Given the description of an element on the screen output the (x, y) to click on. 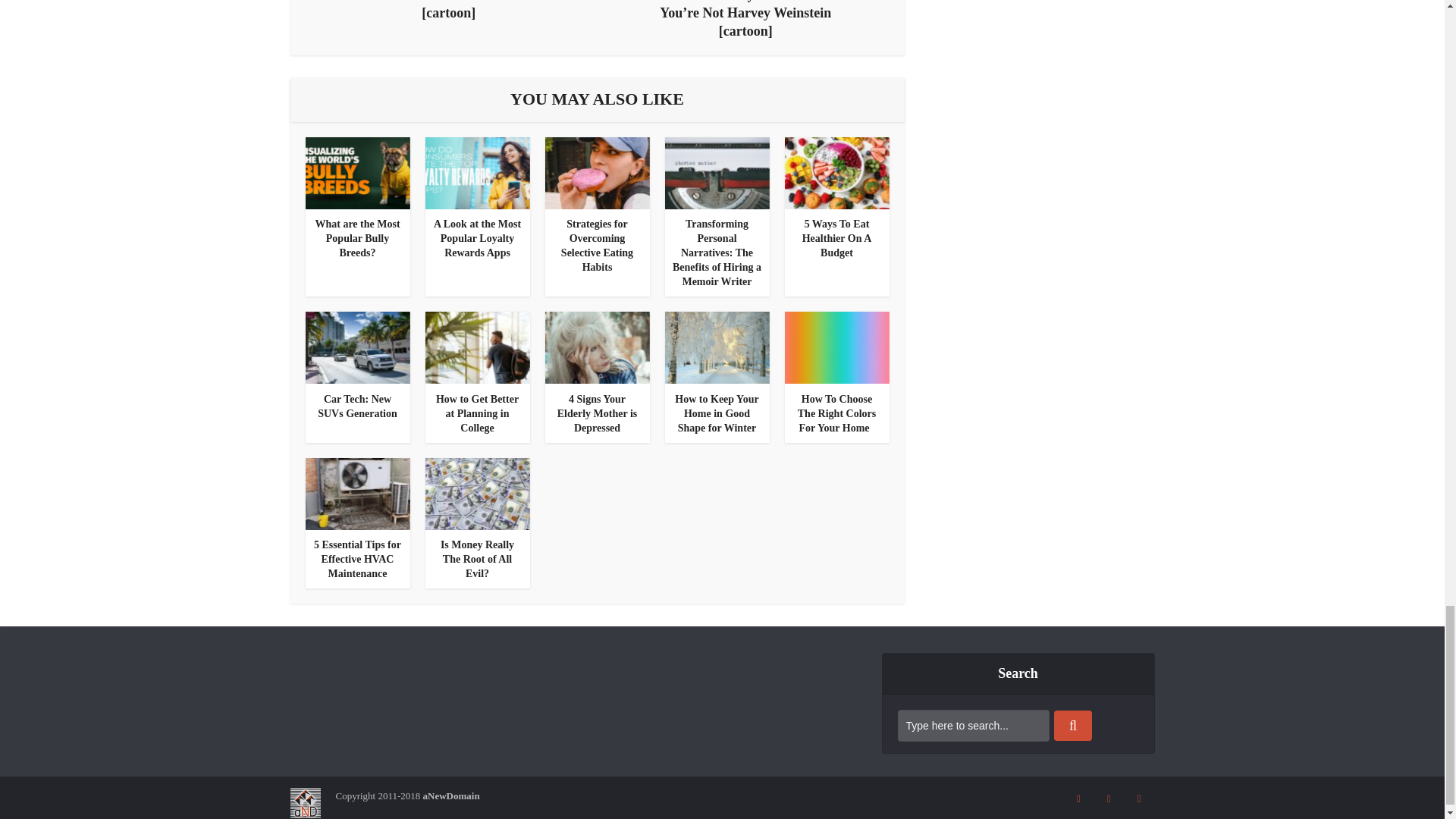
Car Tech: New SUVs Generation (357, 406)
What are the Most Popular Bully Breeds? (356, 238)
What are the Most Popular Bully Breeds? (356, 172)
4 Signs Your Elderly Mother is Depressed (597, 413)
Strategies for Overcoming Selective Eating Habits (596, 245)
Type here to search... (973, 726)
4 Signs Your Elderly Mother is Depressed (596, 347)
How to Keep Your Home in Good Shape for Winter (715, 347)
Strategies for Overcoming Selective Eating Habits (596, 245)
A Look at the Most Popular Loyalty Rewards Apps (477, 238)
5 Ways To Eat Healthier On A Budget (837, 238)
5 Ways To Eat Healthier On A Budget (837, 238)
Car Tech: New SUVs Generation (356, 347)
